Given the description of an element on the screen output the (x, y) to click on. 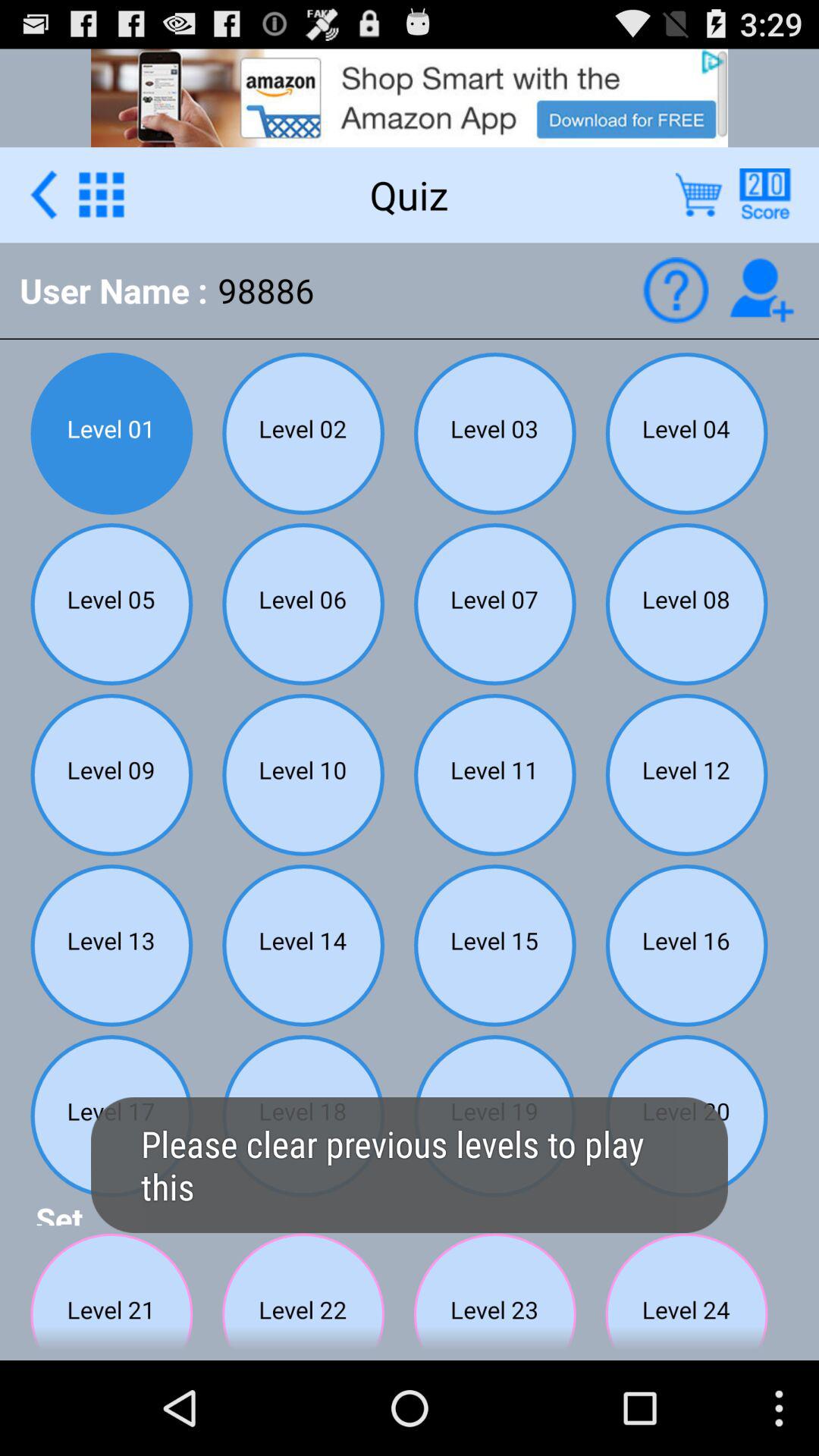
advertisement (409, 97)
